Given the description of an element on the screen output the (x, y) to click on. 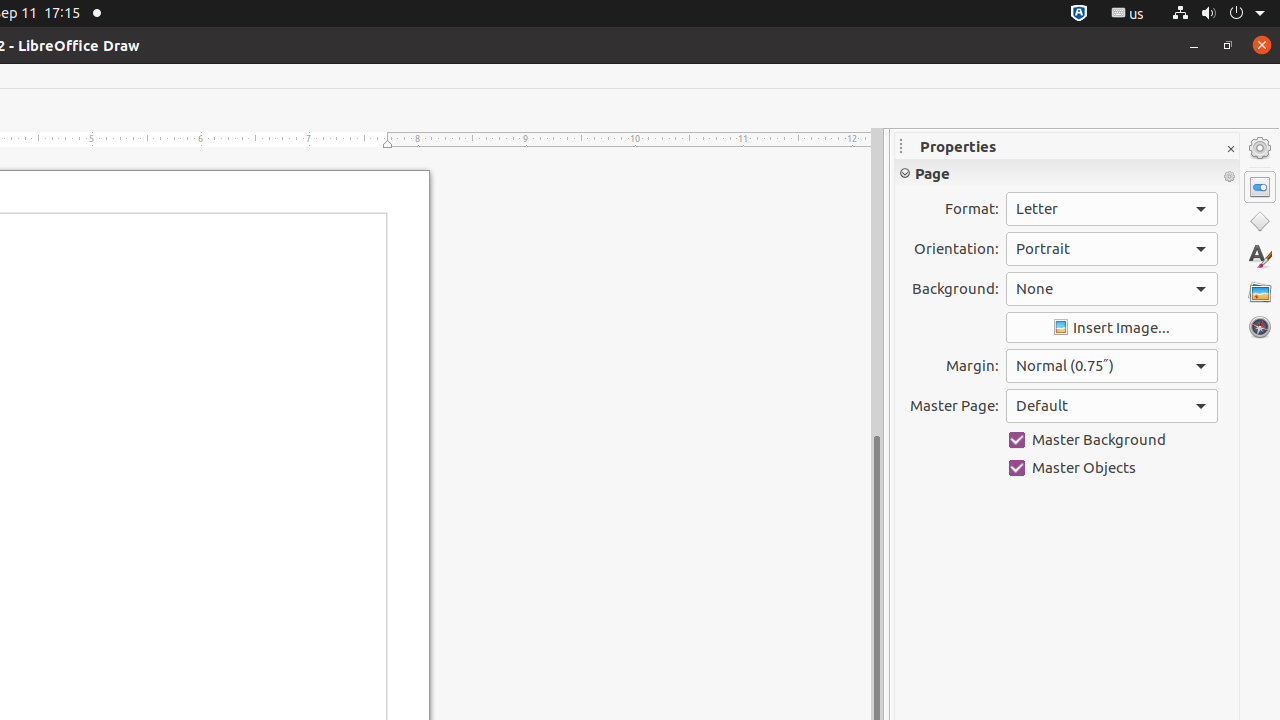
Background: Element type: combo-box (1112, 289)
System Element type: menu (1218, 13)
:1.72/StatusNotifierItem Element type: menu (1079, 13)
Format: Element type: combo-box (1112, 209)
:1.21/StatusNotifierItem Element type: menu (1127, 13)
